Given the description of an element on the screen output the (x, y) to click on. 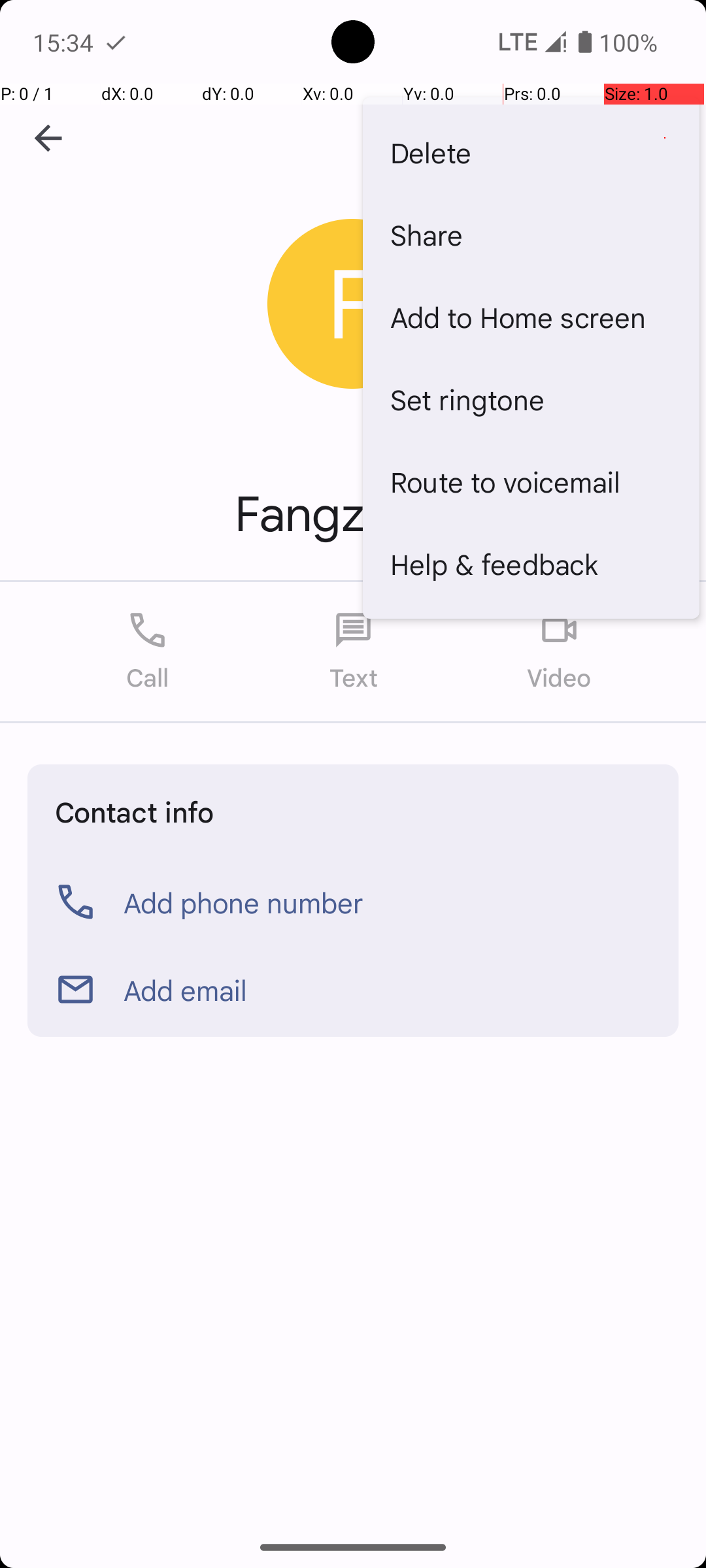
Add to Home screen Element type: android.widget.TextView (531, 316)
Set ringtone Element type: android.widget.TextView (531, 398)
Route to voicemail Element type: android.widget.TextView (531, 481)
